Given the description of an element on the screen output the (x, y) to click on. 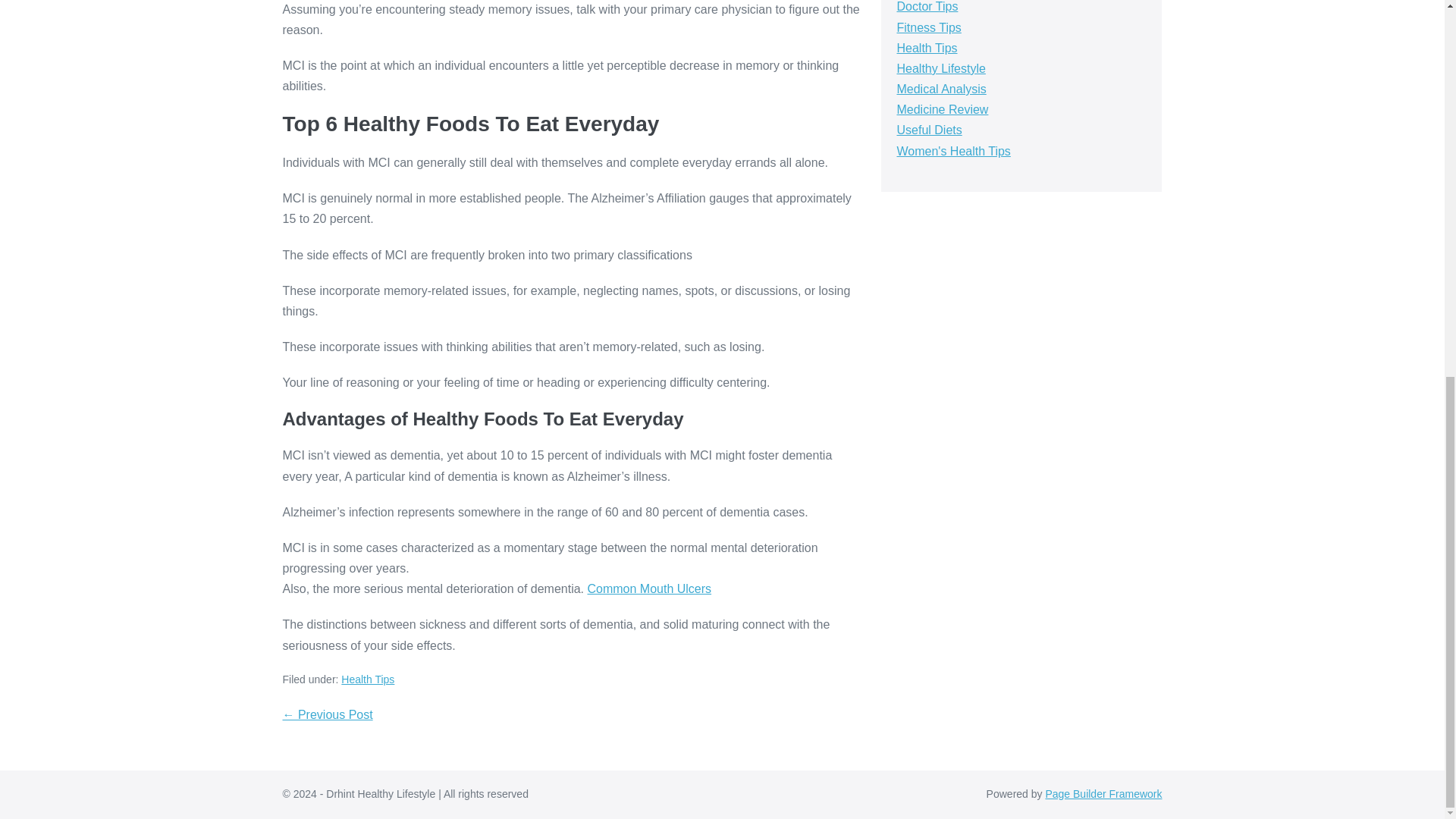
Health Tips (926, 47)
Medical Analysis (940, 88)
Page Builder Framework (1103, 793)
Health Tips (367, 679)
Useful Diets (928, 129)
Doctor Tips (927, 6)
Healthy Lifestyle (940, 68)
Women's Health Tips (953, 151)
Common Mouth Ulcers (648, 588)
Fitness Tips (928, 26)
Medicine Review (942, 109)
